Given the description of an element on the screen output the (x, y) to click on. 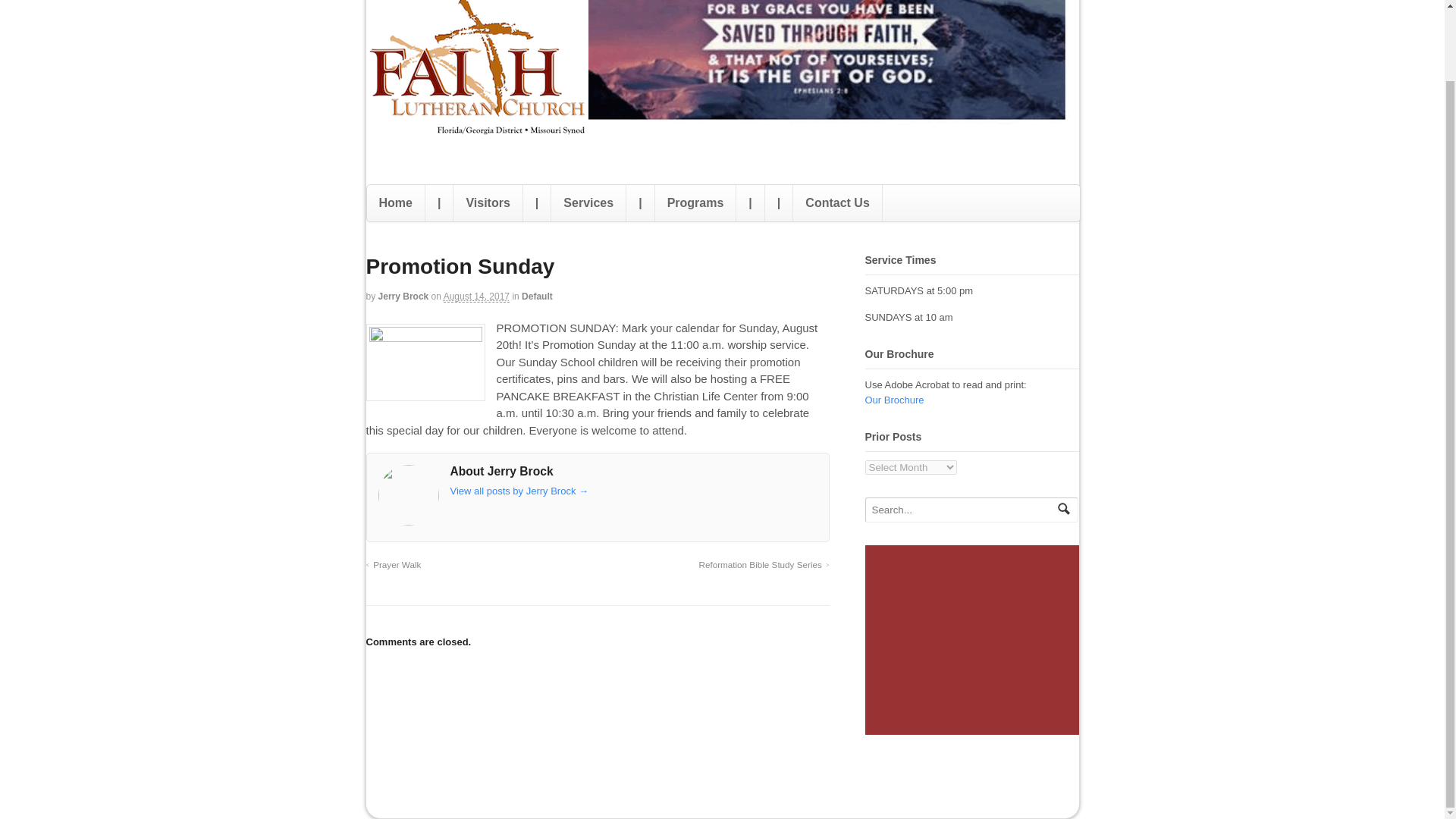
Posts by Jerry Brock (403, 296)
Visitors (486, 203)
2017-08-14T19:27:20-0400 (476, 296)
Services (588, 203)
Faith For The Whole Family. (476, 138)
Search... (962, 509)
Home (395, 203)
